Given the description of an element on the screen output the (x, y) to click on. 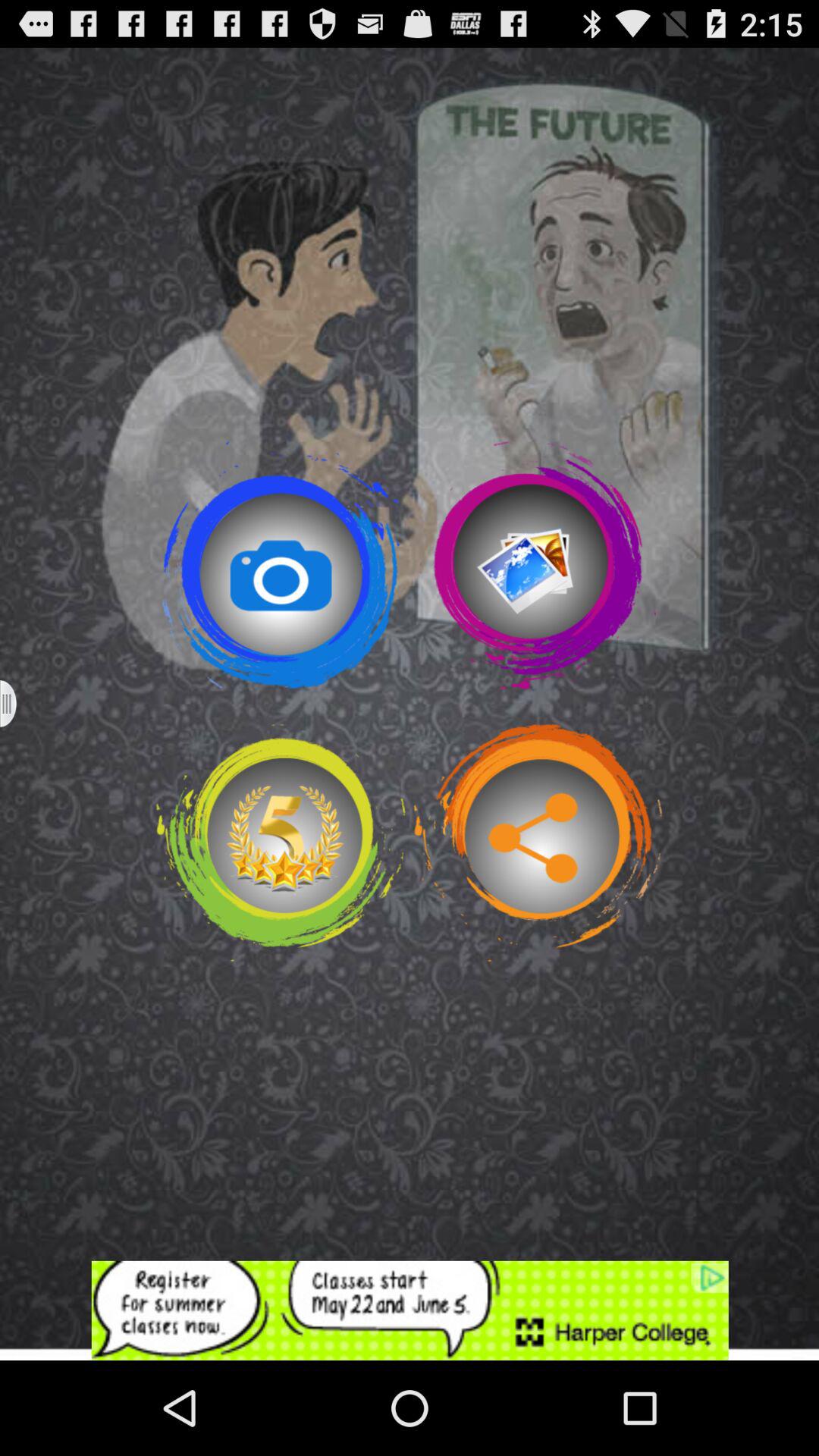
see advertisement (409, 1310)
